Given the description of an element on the screen output the (x, y) to click on. 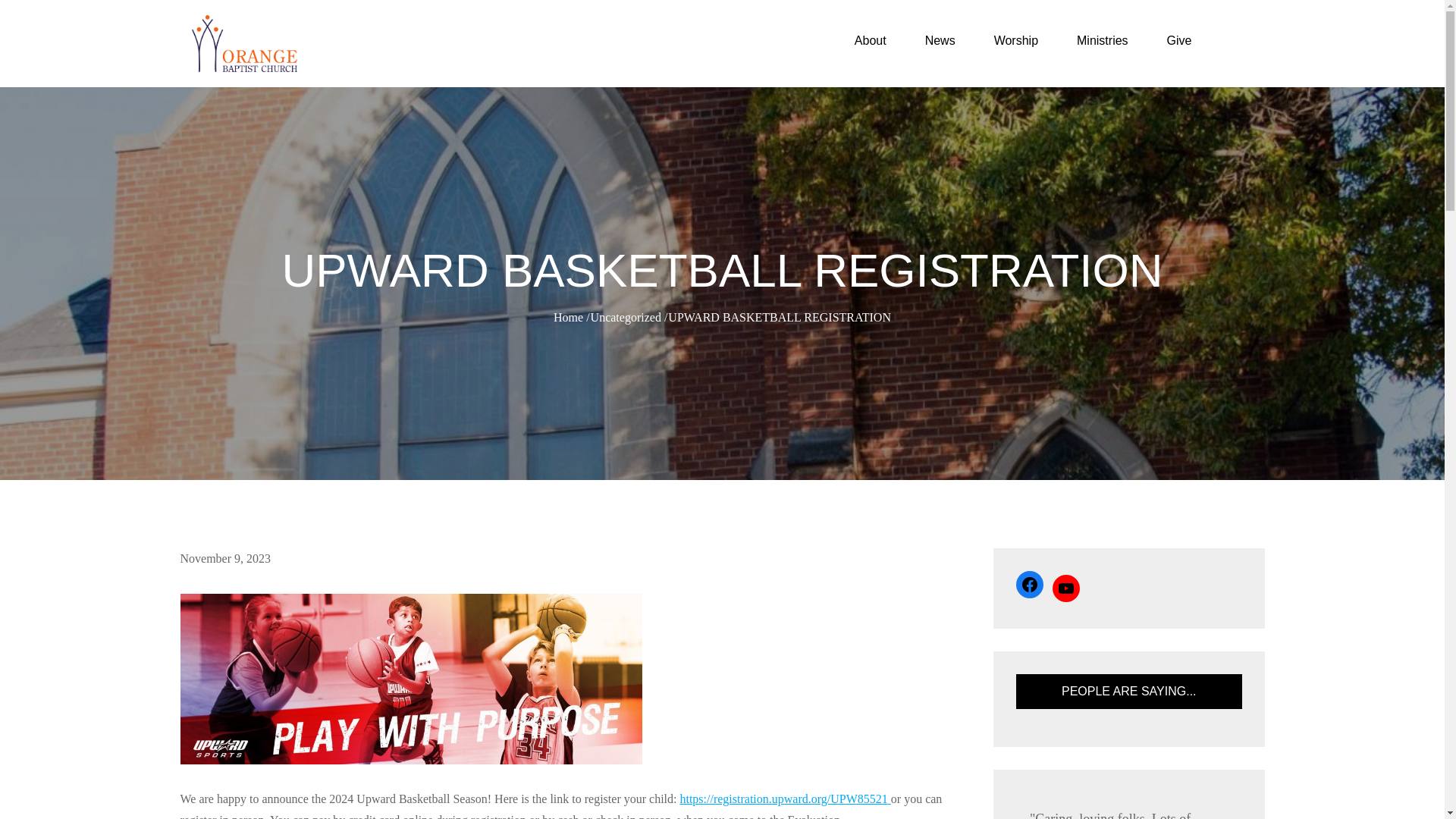
November 9, 2023 (225, 558)
Home (568, 317)
Give (1186, 40)
Ministries (1109, 40)
Orange Baptist Church (445, 58)
Uncategorized (626, 317)
News (946, 40)
Worship (1022, 40)
About (876, 40)
